Given the description of an element on the screen output the (x, y) to click on. 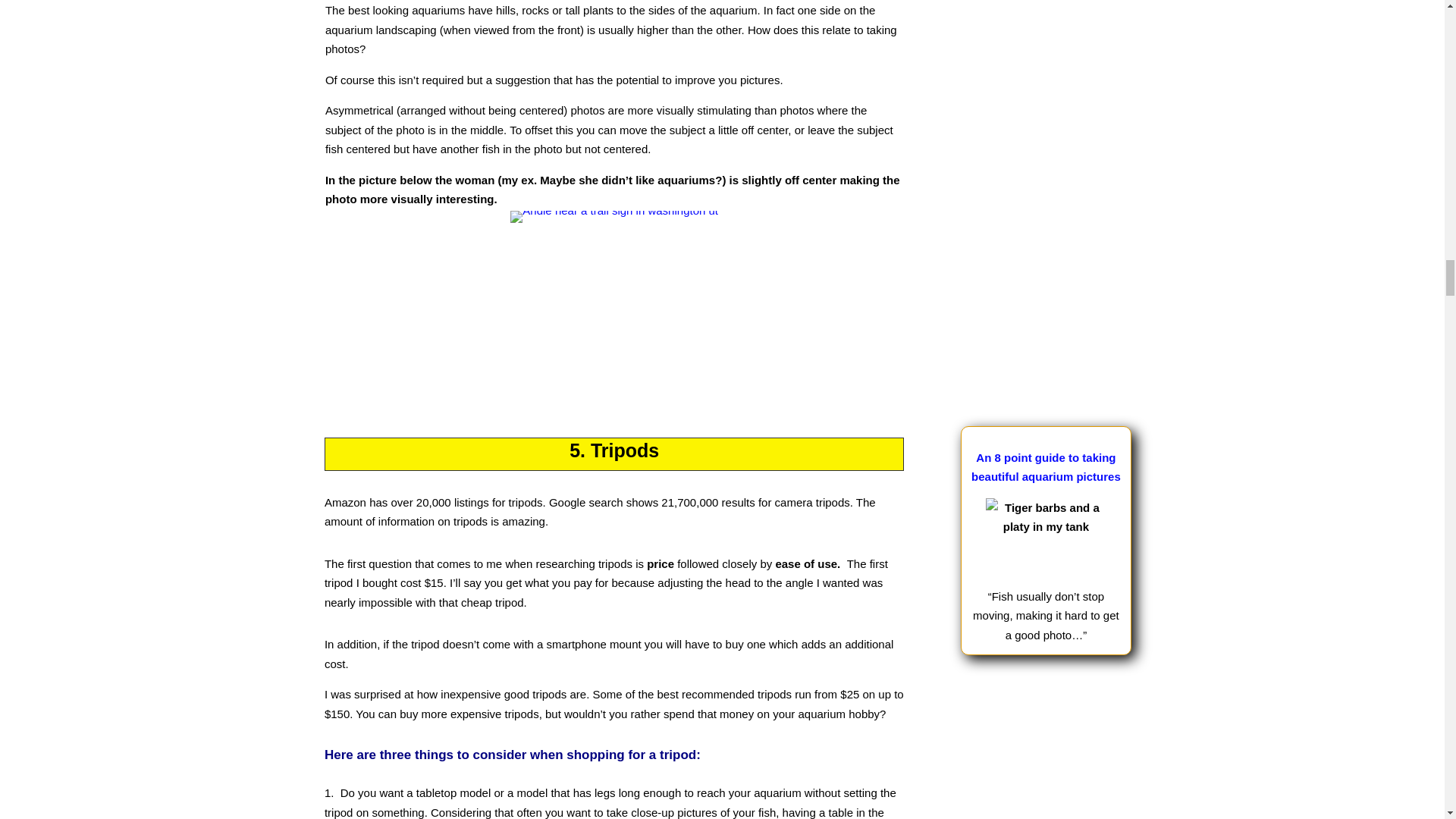
An 8 point guide to taking beautiful aquarium pictures (1046, 467)
Andie near a trailhead sign (614, 295)
